Given the description of an element on the screen output the (x, y) to click on. 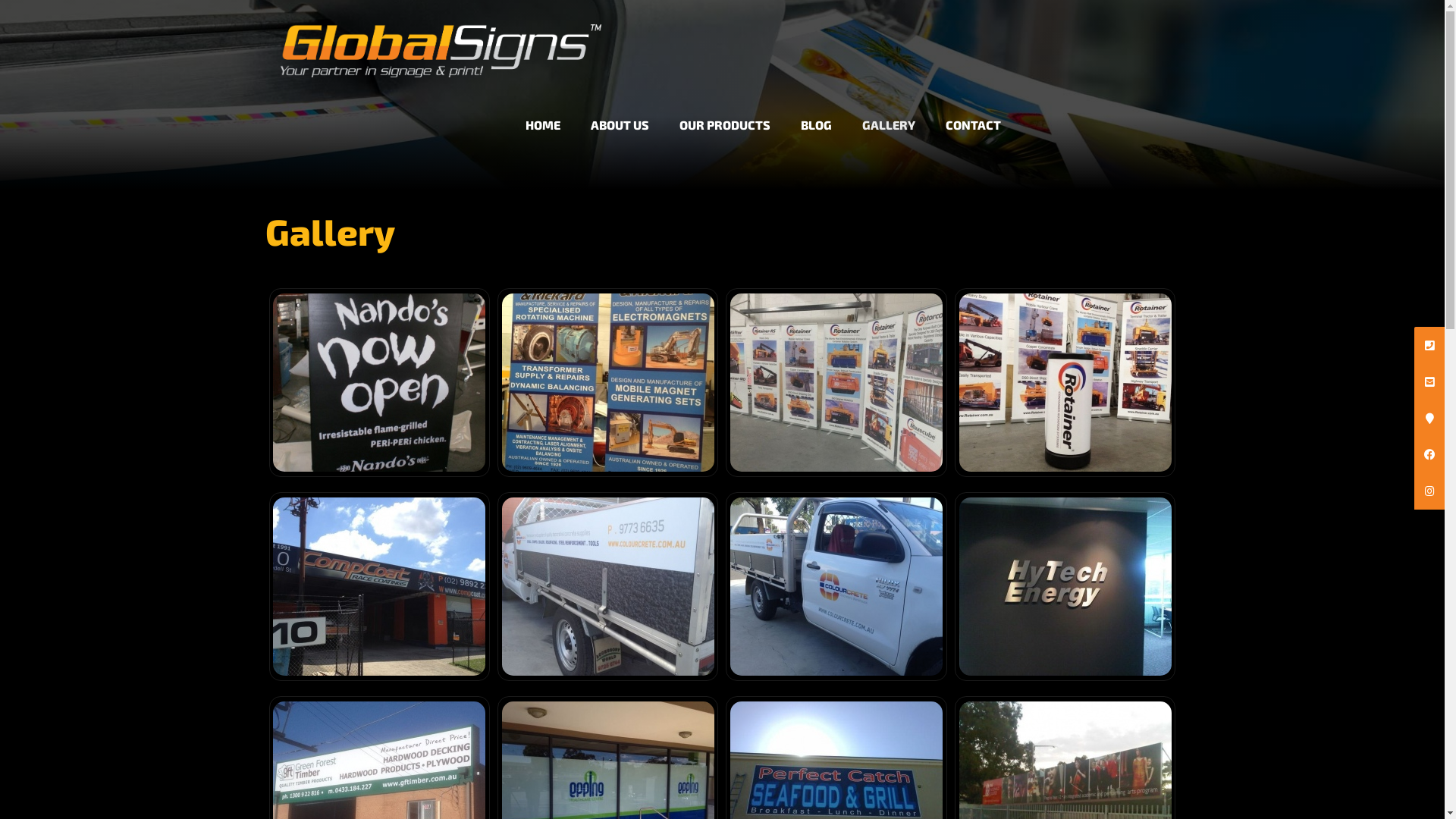
Banner_stand_JR Element type: hover (608, 382)
GALLERY Element type: text (888, 111)
CONTACT Element type: text (973, 111)
COLOURCRETE_UTE2 Element type: hover (836, 586)
OUR PRODUCTS Element type: text (724, 111)
BLOG Element type: text (816, 111)
Banner_Stand_Rotainer Element type: hover (1064, 382)
Global Signs Element type: hover (440, 37)
BUILDING_SIGNAGE_COM1 Element type: hover (379, 586)
OLYMPUS DIGITAL CAMERA Element type: hover (379, 382)
COLOURCRETE_UTE1 Element type: hover (608, 586)
CUT_OUT_LETTERS_HYTE1 Element type: hover (1064, 586)
ABOUT US Element type: text (619, 111)
Banner_Stand_Rotaine1 Element type: hover (836, 382)
HOME Element type: text (542, 111)
